Given the description of an element on the screen output the (x, y) to click on. 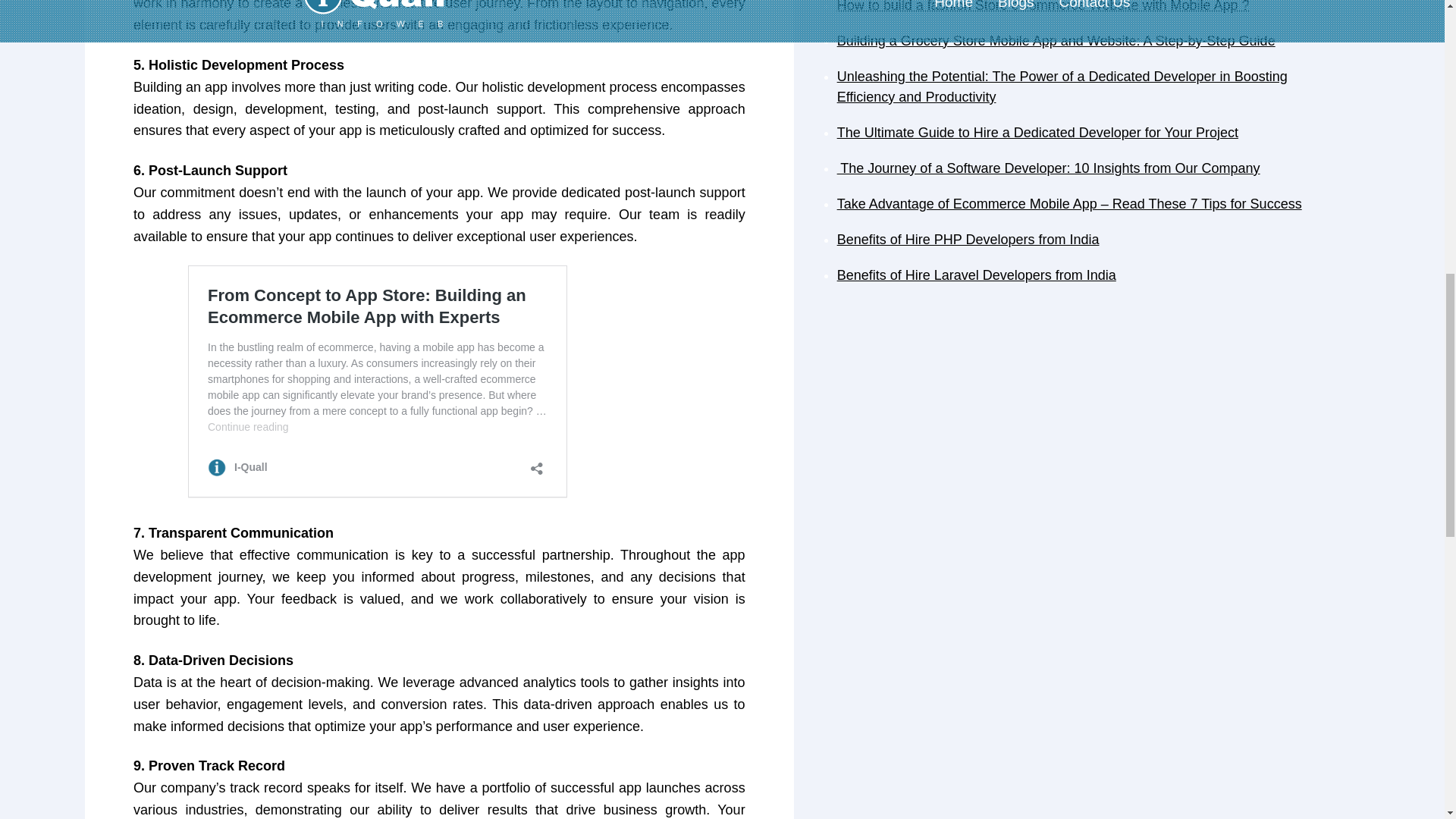
Benefits of Hire Laravel Developers from India (976, 274)
Benefits of Hire PHP Developers from India (968, 239)
